Given the description of an element on the screen output the (x, y) to click on. 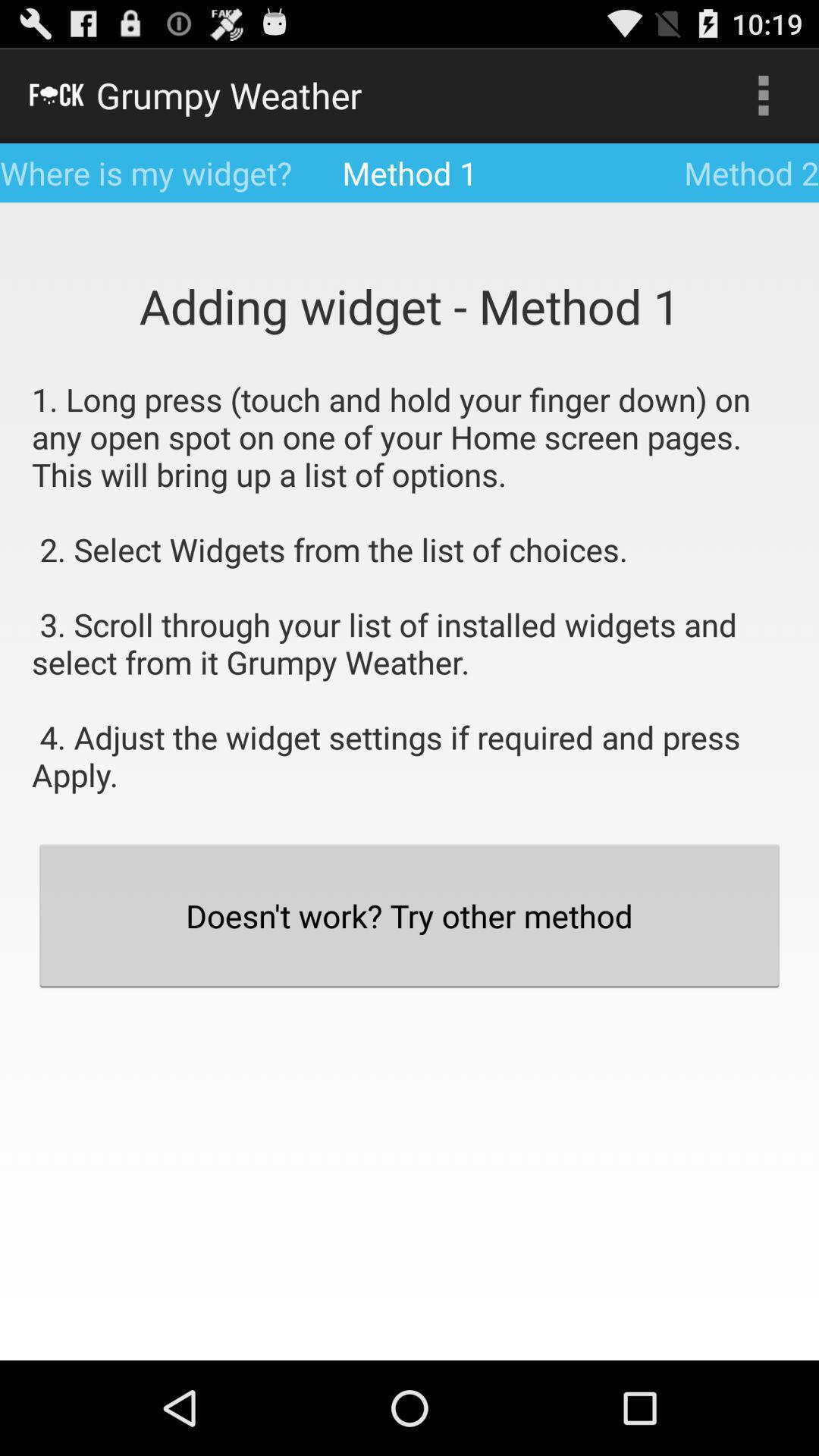
press doesn t work icon (409, 915)
